Given the description of an element on the screen output the (x, y) to click on. 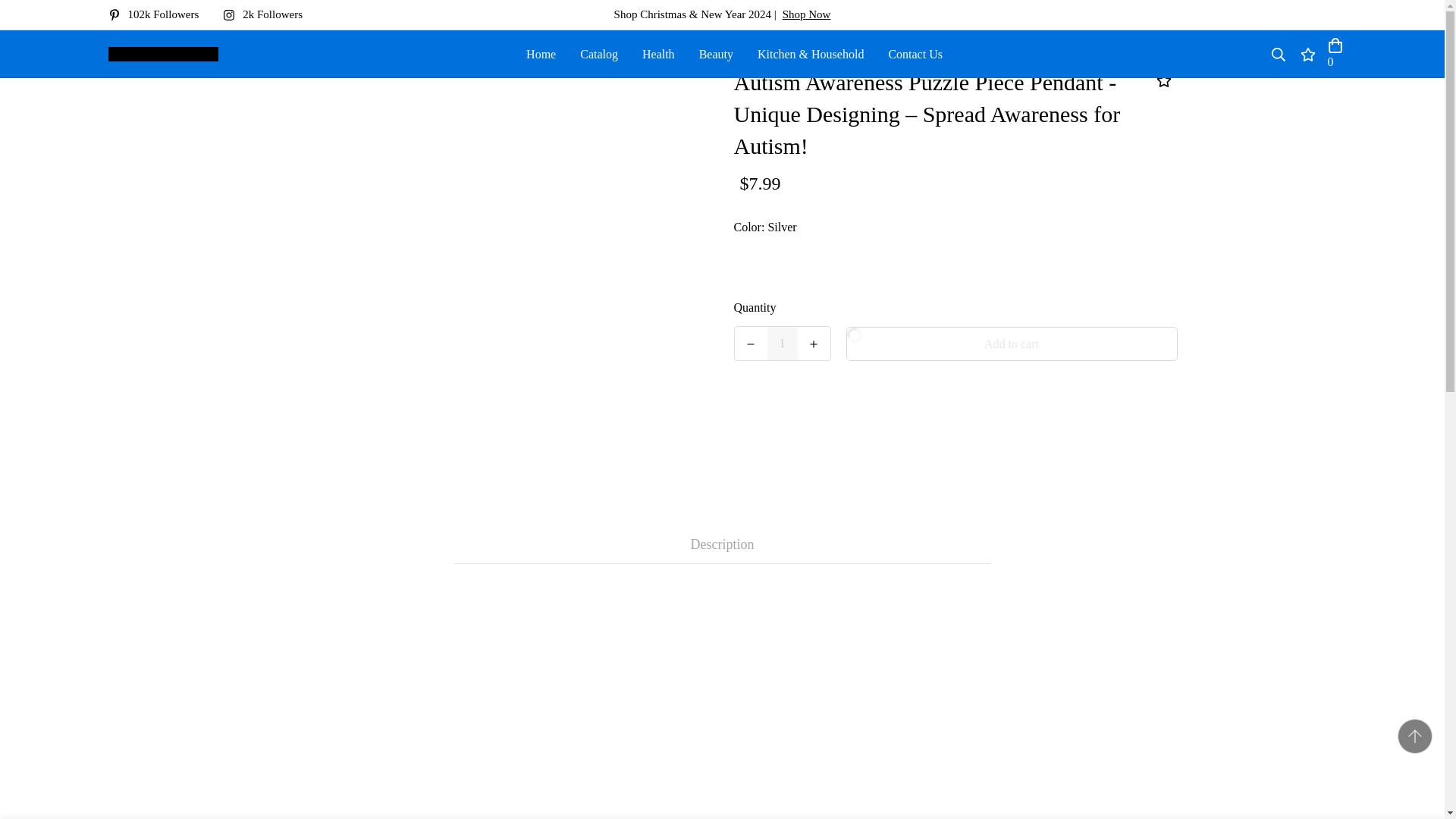
Contact Us (915, 53)
Home (540, 53)
Shop Now (807, 14)
Health (658, 53)
Catalog (598, 53)
2k Followers (268, 14)
1 (782, 343)
102k Followers (158, 14)
Beauty (716, 53)
